Given the description of an element on the screen output the (x, y) to click on. 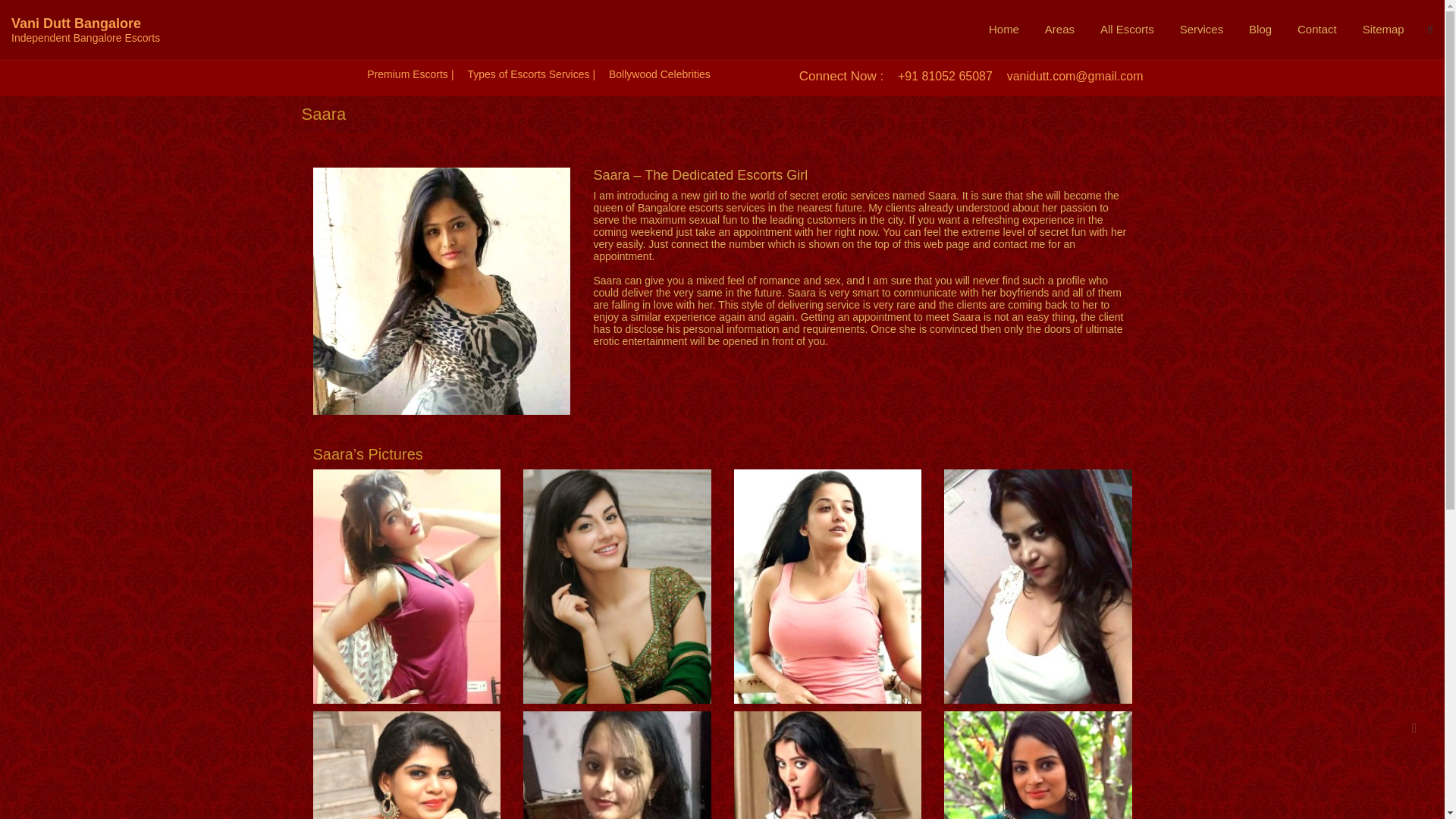
Go to Top (1414, 727)
All Escorts (1127, 29)
Bollywood Celebrities (659, 73)
Premium Escorts (407, 73)
Sitemap (1383, 29)
Vani Dutt Bangalore (76, 22)
Services (1201, 29)
Home (1003, 29)
Areas (1059, 29)
Types of Escorts Services (528, 73)
Contact (1316, 29)
Bangalore escorts (680, 207)
